Given the description of an element on the screen output the (x, y) to click on. 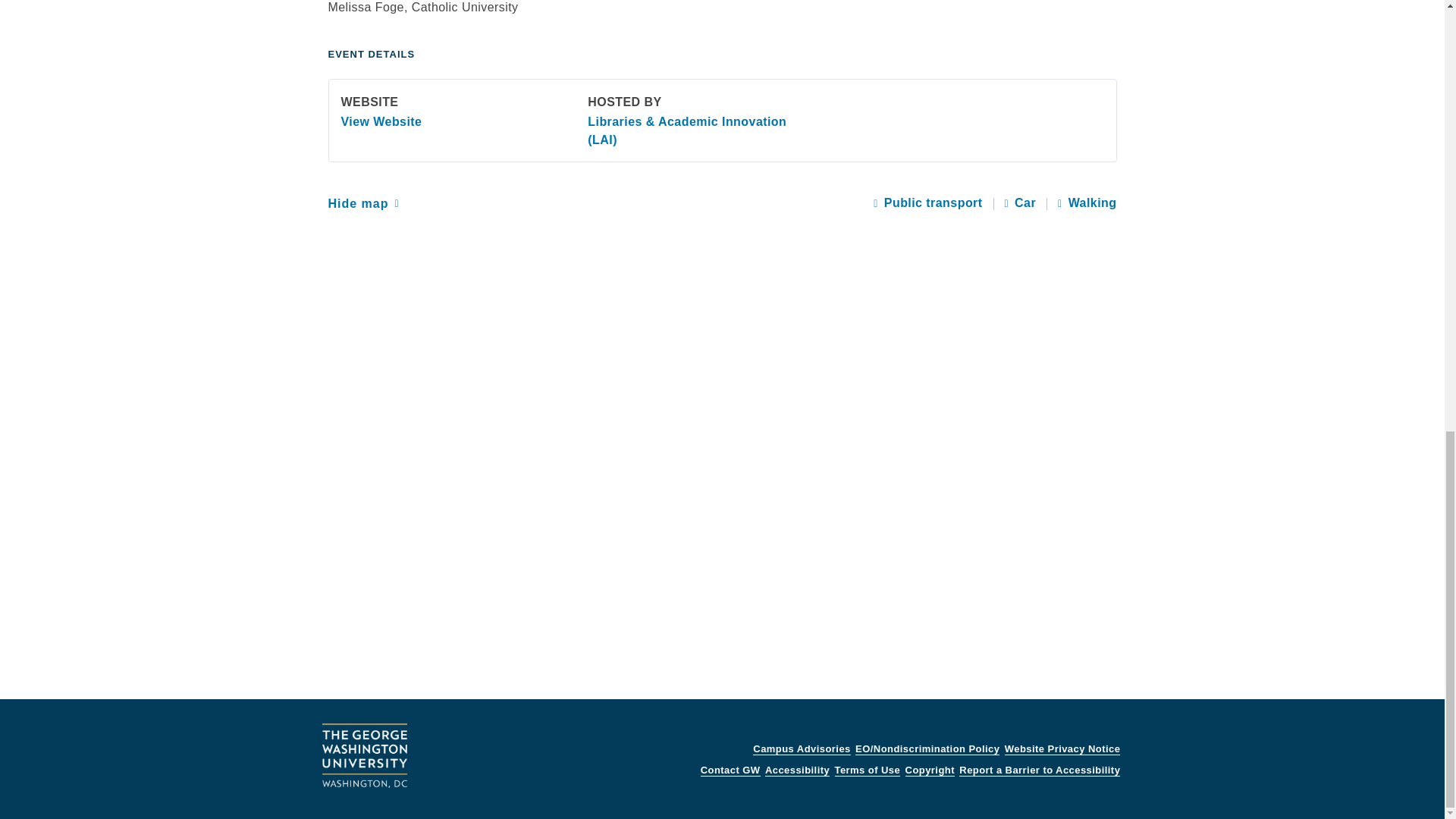
Car (1020, 203)
View Website (381, 121)
Public transport (927, 203)
Walking (1087, 203)
